Given the description of an element on the screen output the (x, y) to click on. 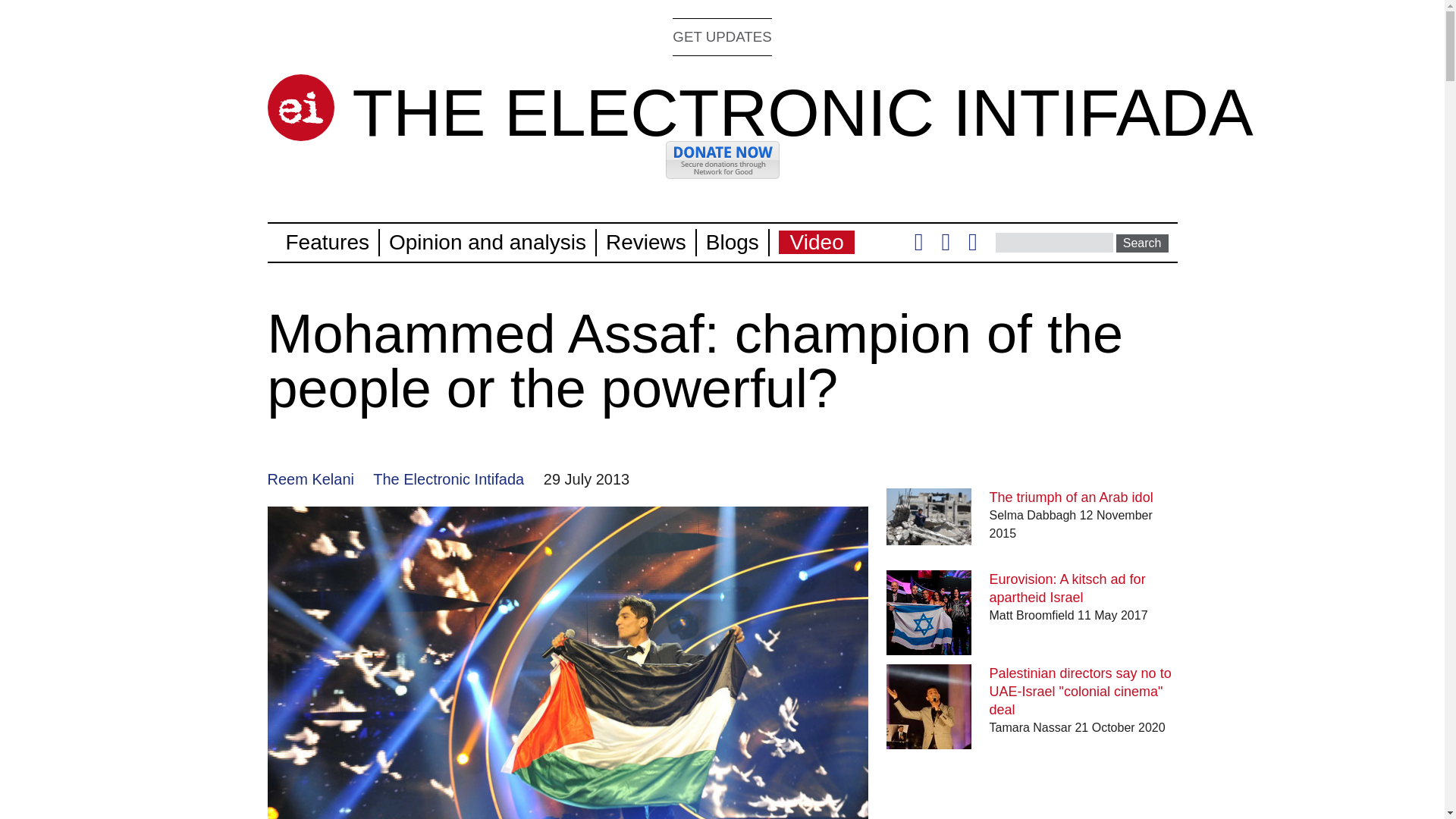
Reem Kelani (309, 478)
Home (802, 112)
Home (299, 107)
Enter the terms you wish to search for. (1054, 242)
Search (1142, 243)
GET UPDATES (721, 37)
THE ELECTRONIC INTIFADA (802, 112)
The Electronic Intifada (448, 478)
